Given the description of an element on the screen output the (x, y) to click on. 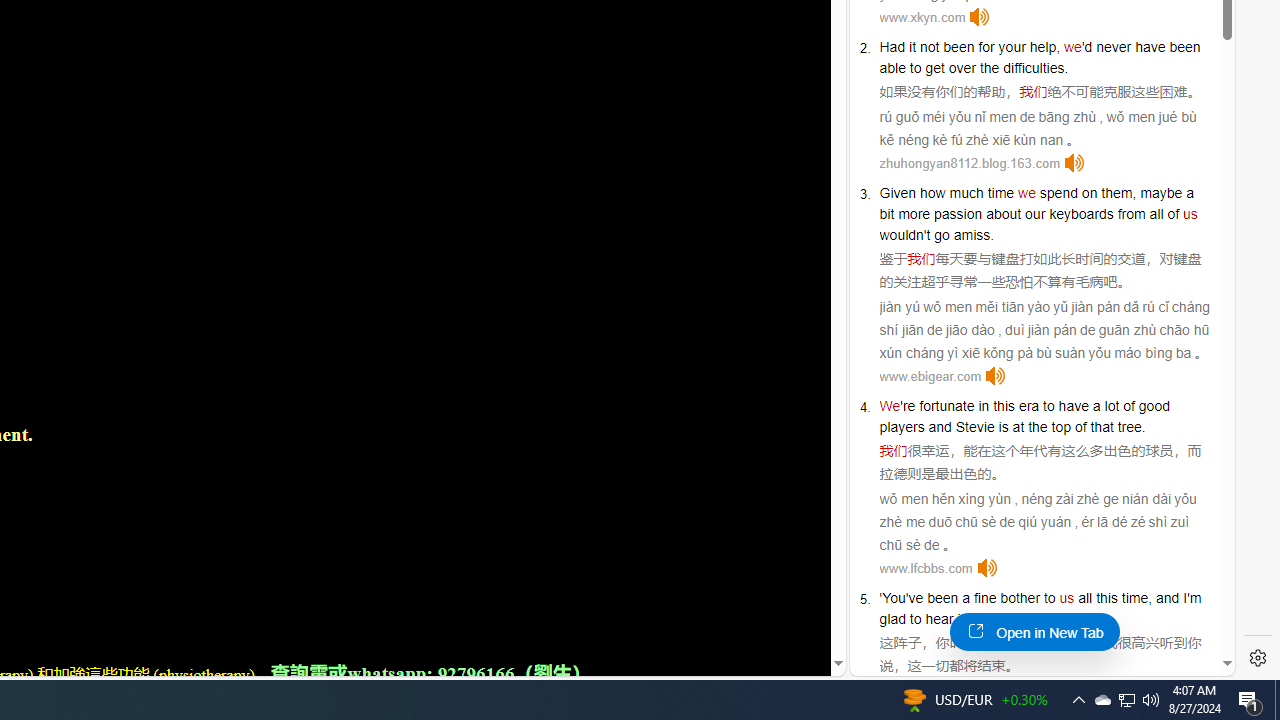
, (1150, 597)
from (1131, 213)
good (1153, 405)
Settings (1258, 658)
www.lfcbbs.com (925, 568)
maybe (1161, 192)
to (1048, 405)
a bit (1036, 203)
